Given the description of an element on the screen output the (x, y) to click on. 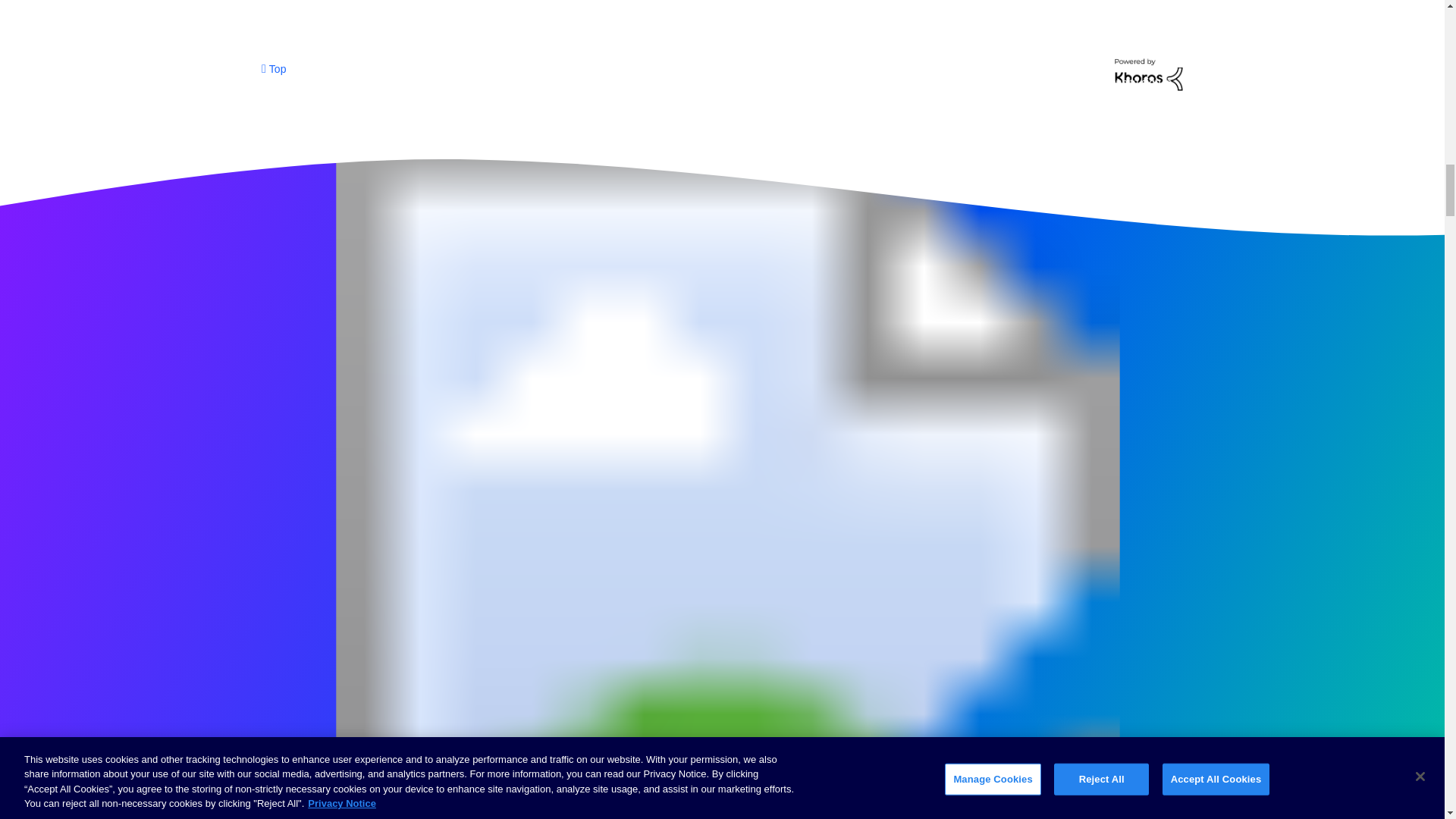
Top (273, 68)
Top (273, 68)
